Given the description of an element on the screen output the (x, y) to click on. 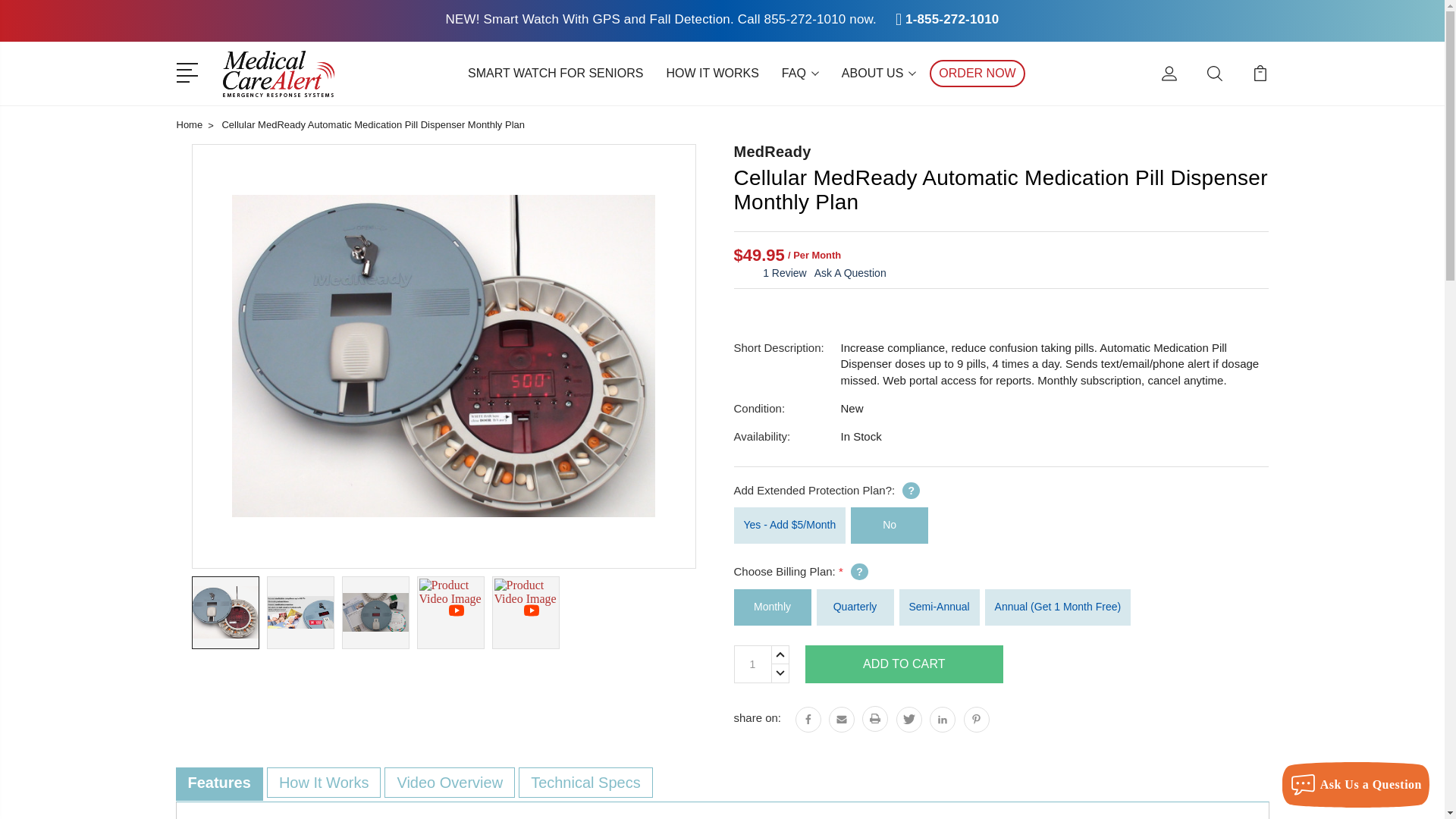
ORDER NOW (977, 72)
SMART WATCH FOR SENIORS (555, 72)
MedReady Automated Medication Pill Dispenser (224, 612)
FAQ (800, 72)
Add to Cart (904, 664)
1-855-272-1010 (951, 19)
Medical Care Alert (277, 73)
Smart Watch With GPS and Fall Detection (606, 19)
5 stars (747, 272)
ABOUT US (879, 72)
1 (752, 664)
HOW IT WORKS (711, 72)
